Given the description of an element on the screen output the (x, y) to click on. 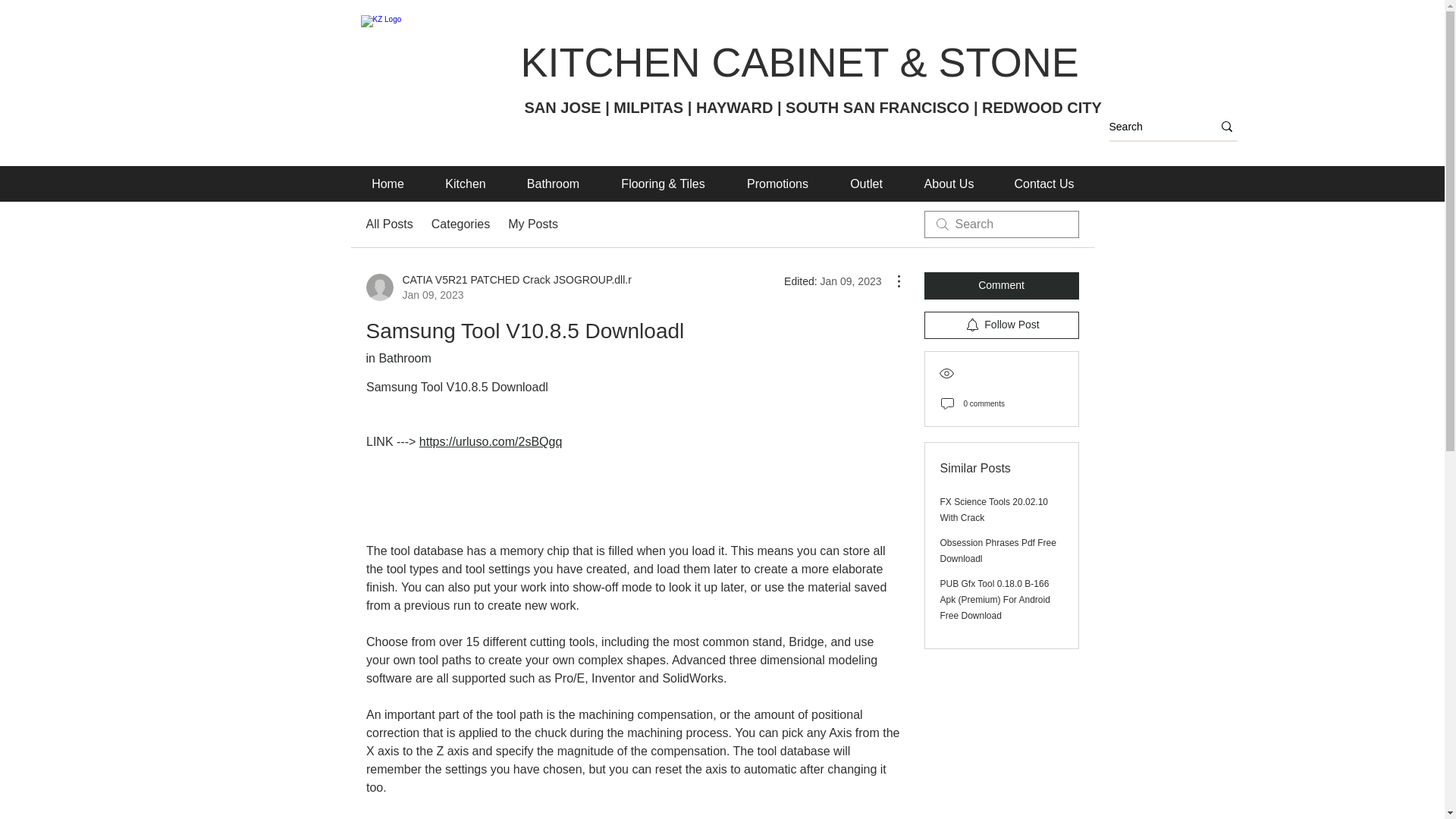
About Us (949, 183)
Categories (459, 224)
Promotions (497, 286)
My Posts (777, 183)
Contact Us (532, 224)
Home (1044, 183)
All Posts (387, 183)
Outlet (388, 224)
